Given the description of an element on the screen output the (x, y) to click on. 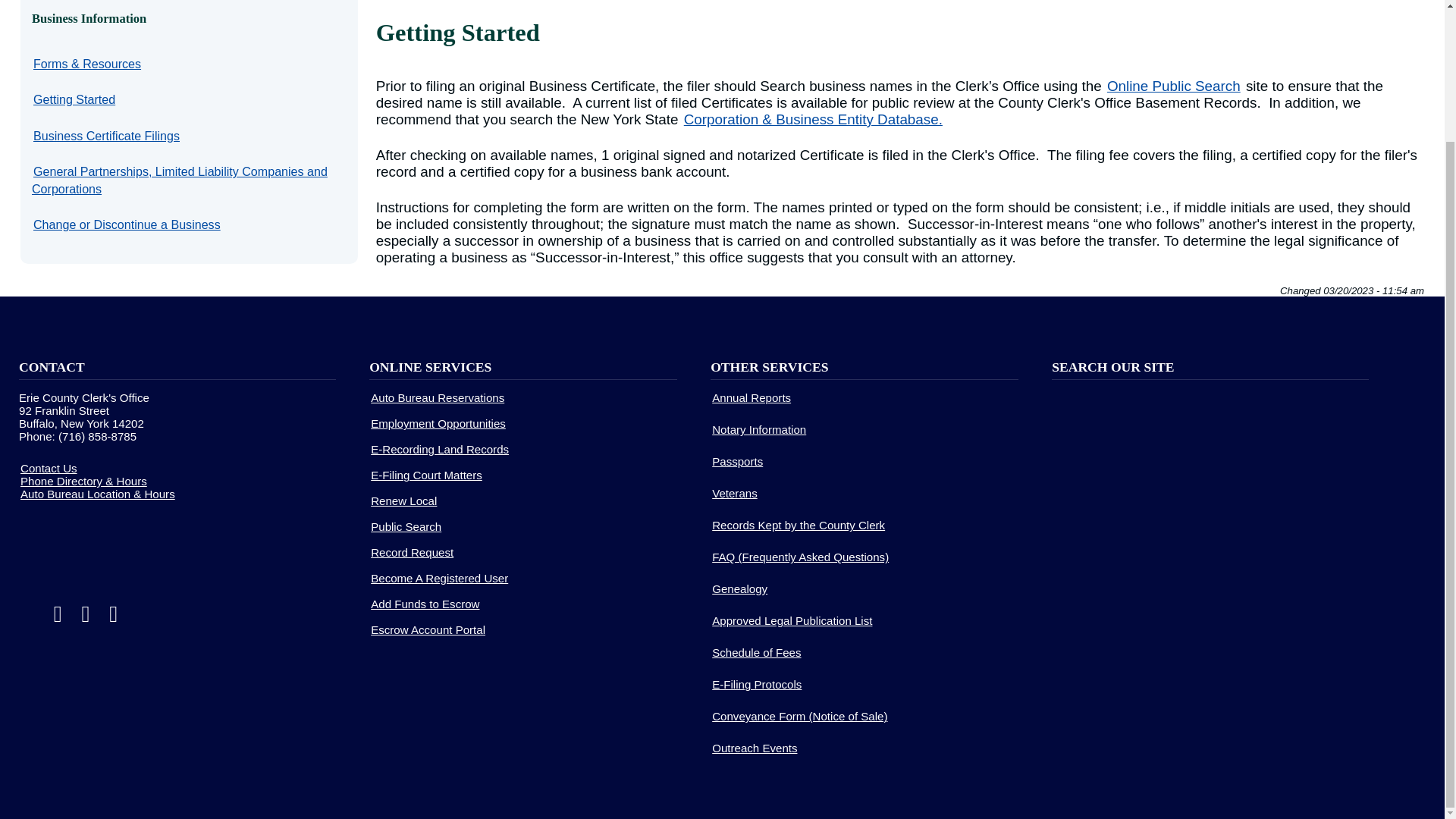
E-Recording Land Records (440, 449)
Employment Opportunities (437, 423)
Contact Us (48, 467)
Online Public Search (1173, 85)
Add Funds to Escrow (424, 603)
Passports (737, 461)
Change or Discontinue a Business (127, 224)
Annual Reports (751, 397)
Renew Local (403, 500)
